Given the description of an element on the screen output the (x, y) to click on. 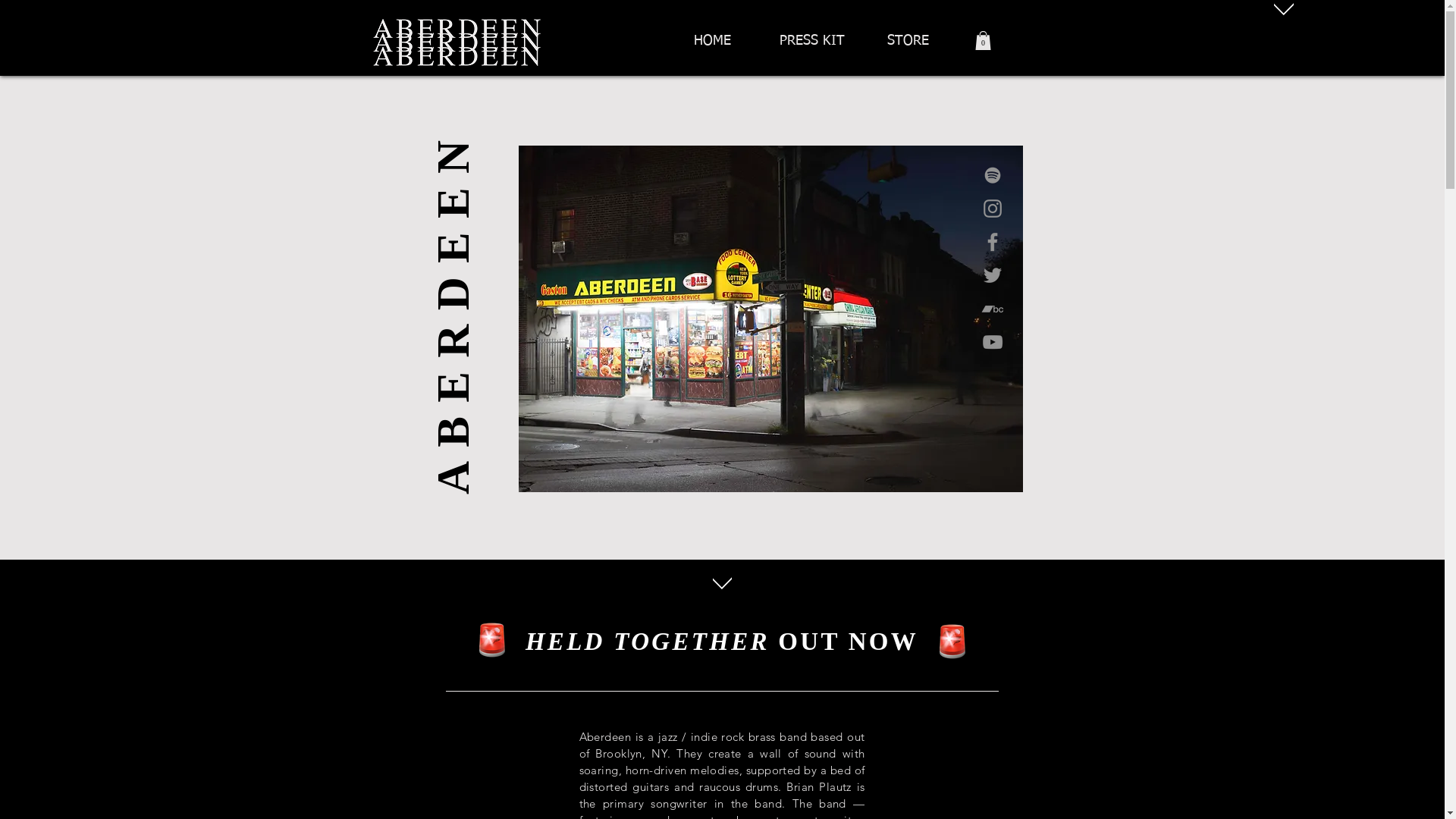
PRESS KIT Element type: text (812, 41)
HOME Element type: text (712, 41)
0 Element type: text (983, 40)
STORE Element type: text (908, 41)
HOME Element type: text (820, 32)
